Given the description of an element on the screen output the (x, y) to click on. 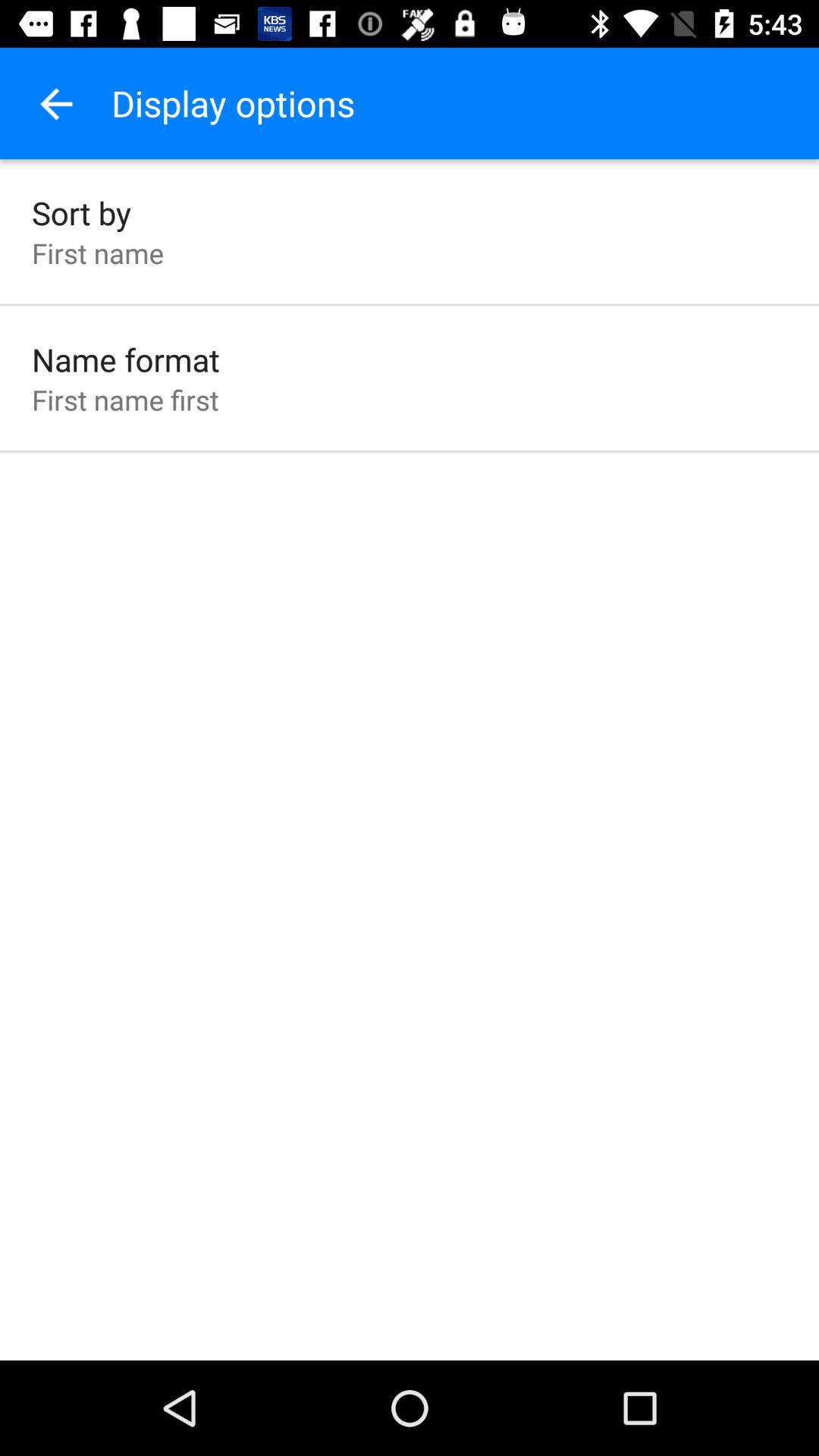
launch the sort by item (81, 212)
